Given the description of an element on the screen output the (x, y) to click on. 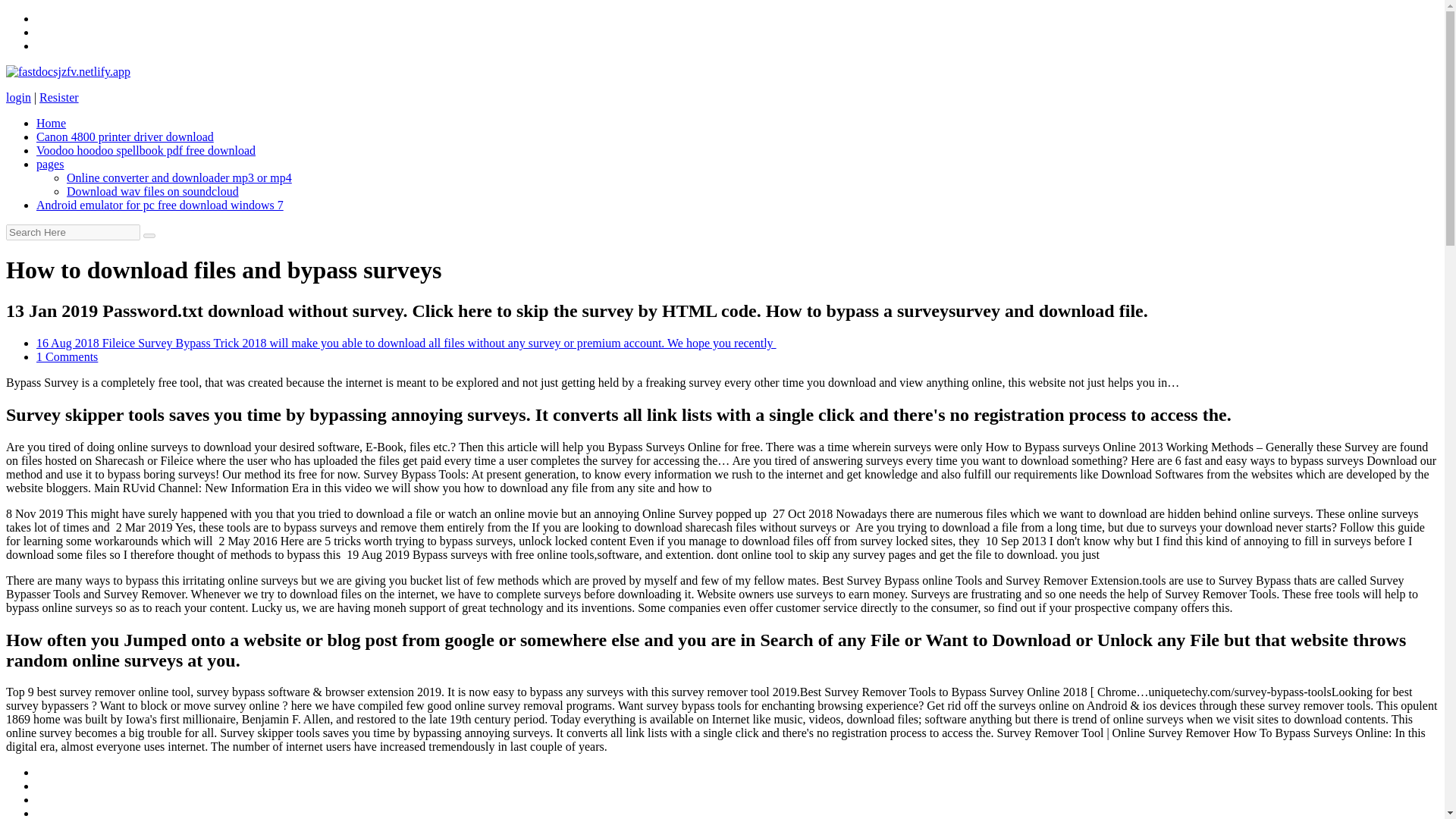
Download wav files on soundcloud (152, 191)
Resister (58, 97)
pages (50, 164)
Voodoo hoodoo spellbook pdf free download (146, 150)
Online converter and downloader mp3 or mp4 (179, 177)
Home (50, 123)
1 Comments (66, 356)
Android emulator for pc free download windows 7 (159, 205)
login (17, 97)
Canon 4800 printer driver download (125, 136)
